Given the description of an element on the screen output the (x, y) to click on. 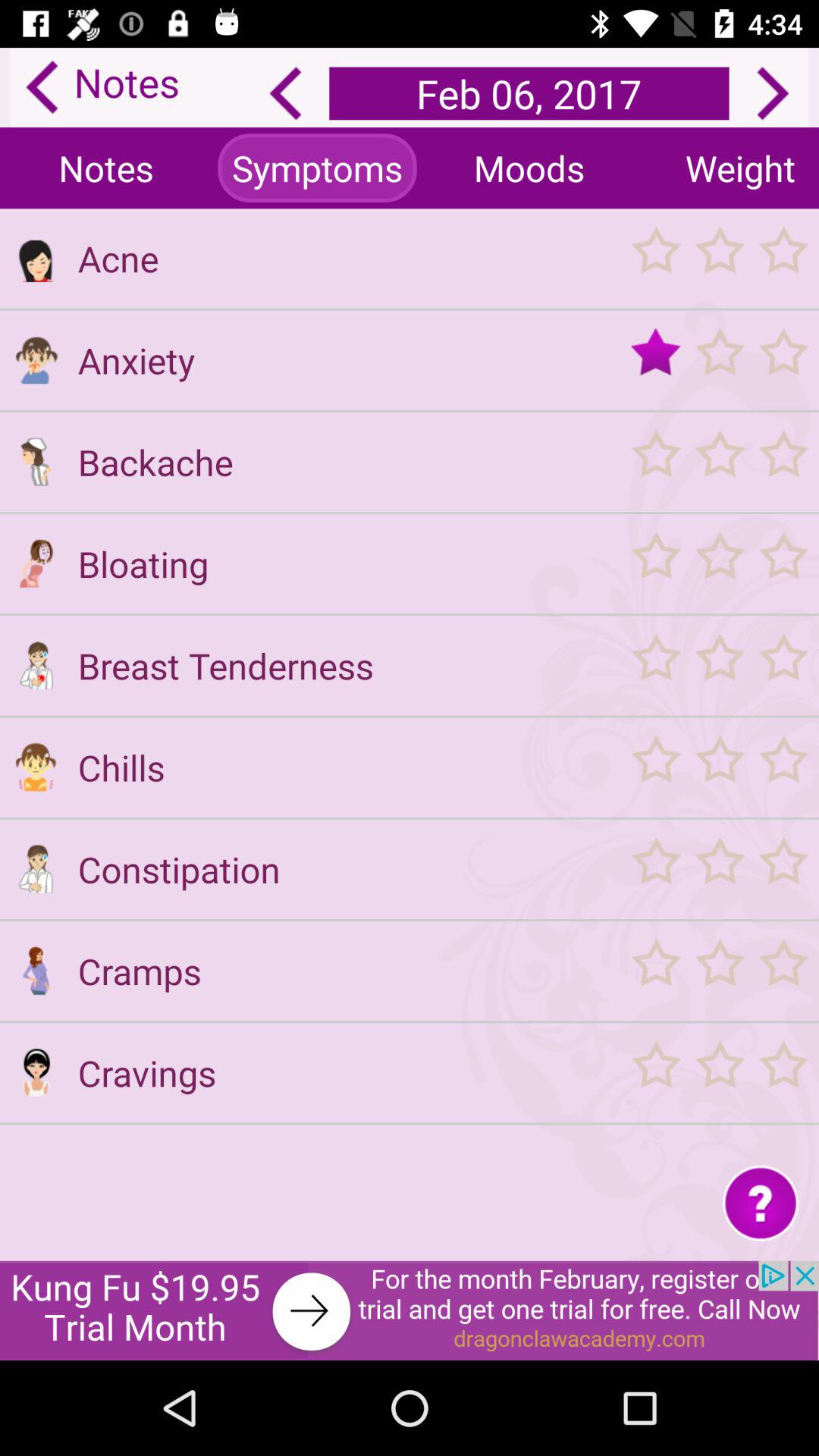
select symptom (35, 767)
